Given the description of an element on the screen output the (x, y) to click on. 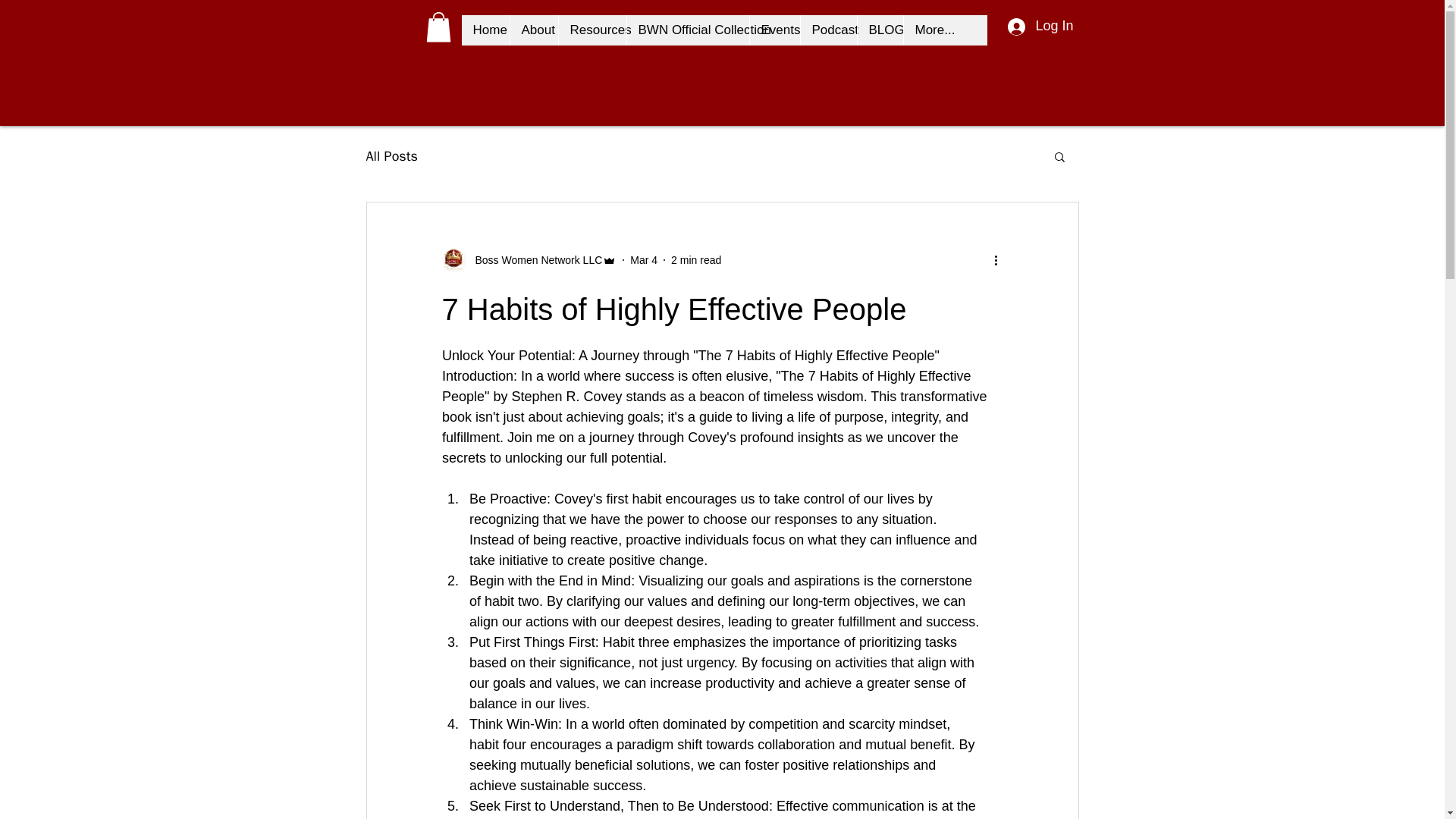
Events (774, 30)
Boss Women Network LLC (533, 260)
Mar 4 (644, 259)
About (533, 30)
Log In (1039, 26)
Podcast (827, 30)
Home (484, 30)
Boss Women Network LLC (528, 259)
BLOG (879, 30)
BWN Official Collection (687, 30)
